Given the description of an element on the screen output the (x, y) to click on. 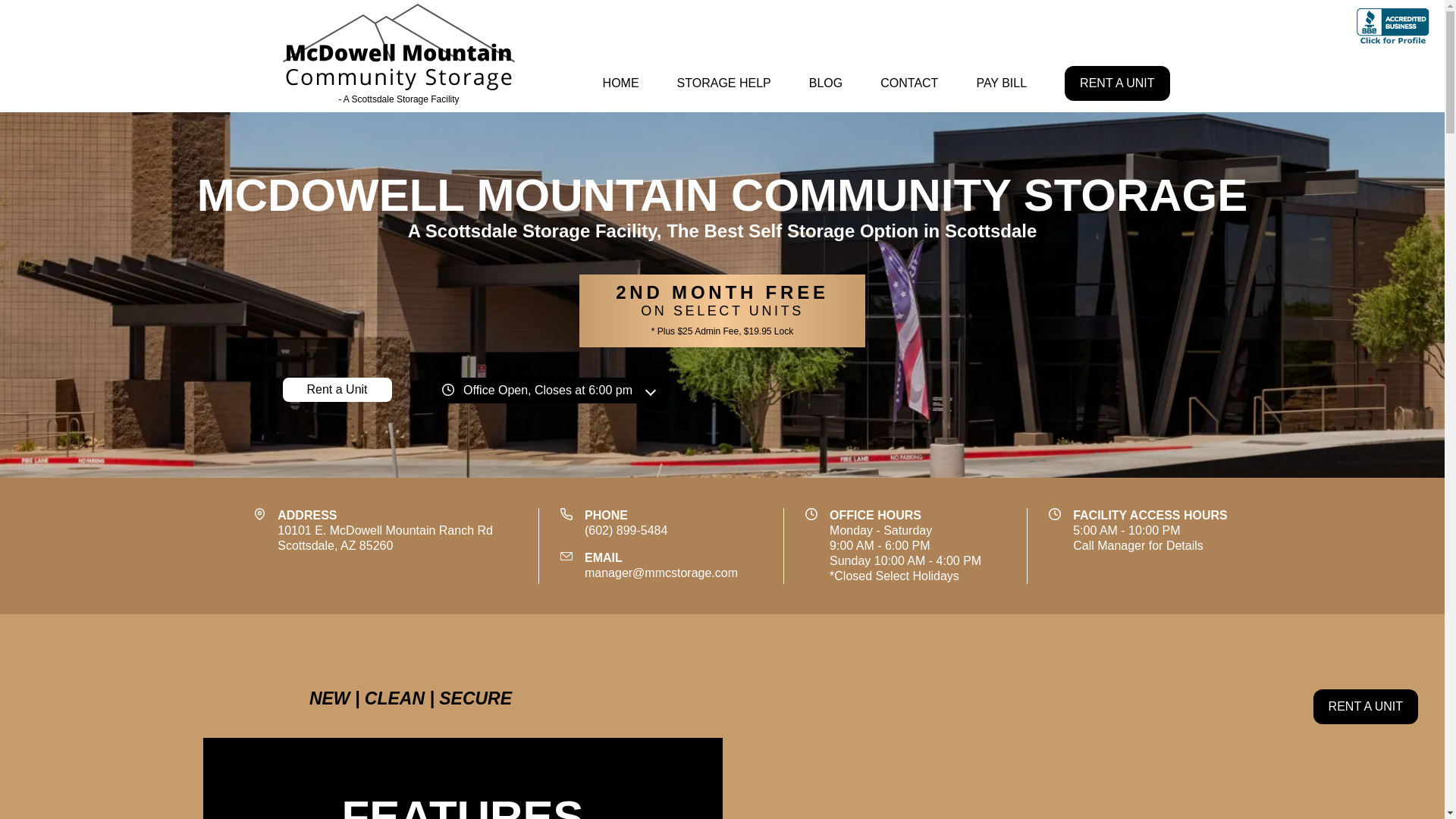
BLOG (825, 83)
CONTACT (908, 83)
PAY BILL (1001, 83)
HOME (620, 83)
RENT A UNIT (1365, 706)
- A Scottsdale Storage Facility (398, 56)
Rent a Unit (336, 389)
Office Open, Closes at 6:00 pm (547, 390)
RENT A UNIT (385, 538)
